Given the description of an element on the screen output the (x, y) to click on. 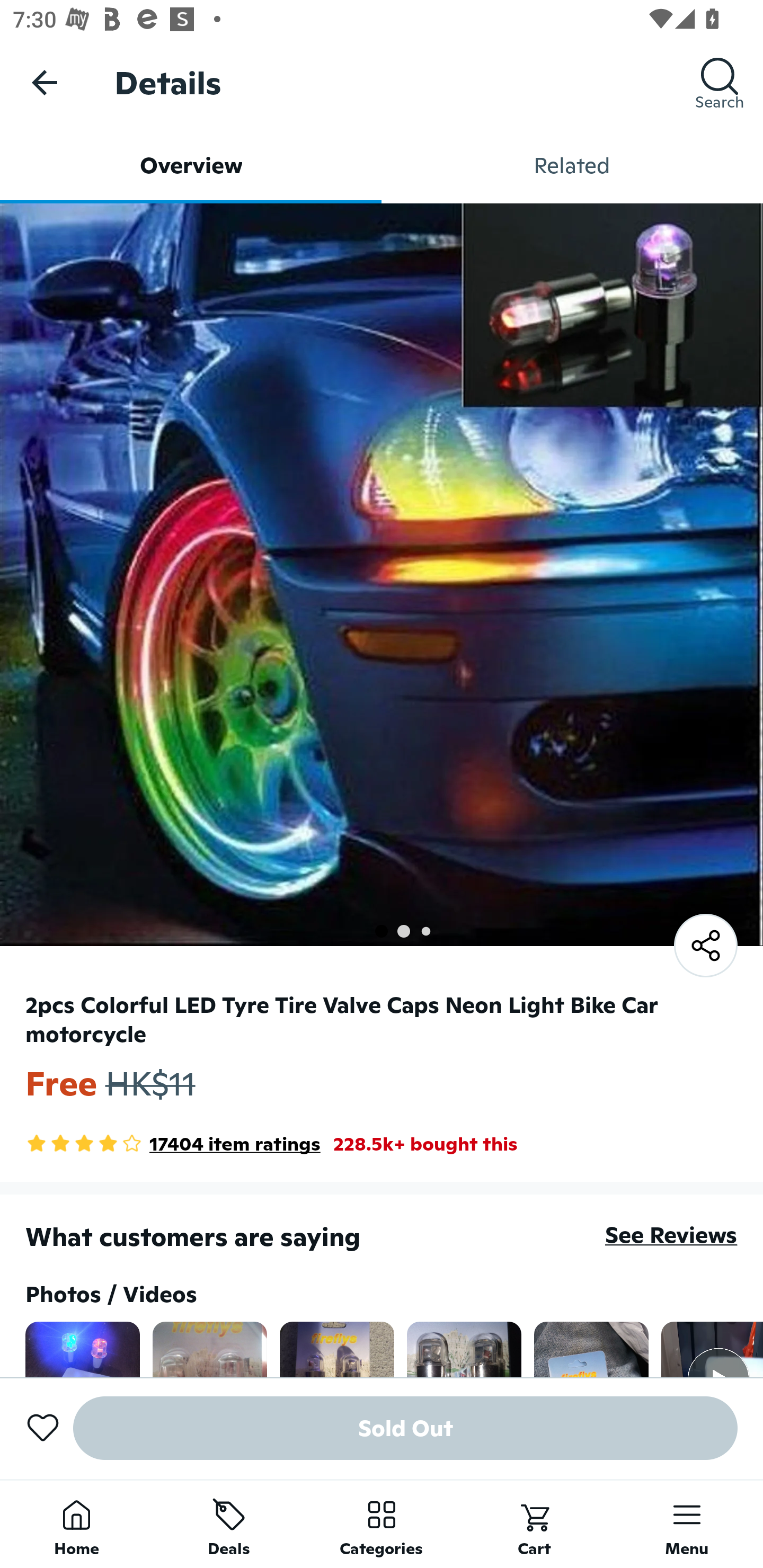
Navigate up (44, 82)
Search (719, 82)
Related (572, 165)
3.8 Star Rating 17404 item ratings (172, 1143)
See Reviews (671, 1234)
Sold Out (405, 1428)
Home (76, 1523)
Deals (228, 1523)
Categories (381, 1523)
Cart (533, 1523)
Menu (686, 1523)
